Given the description of an element on the screen output the (x, y) to click on. 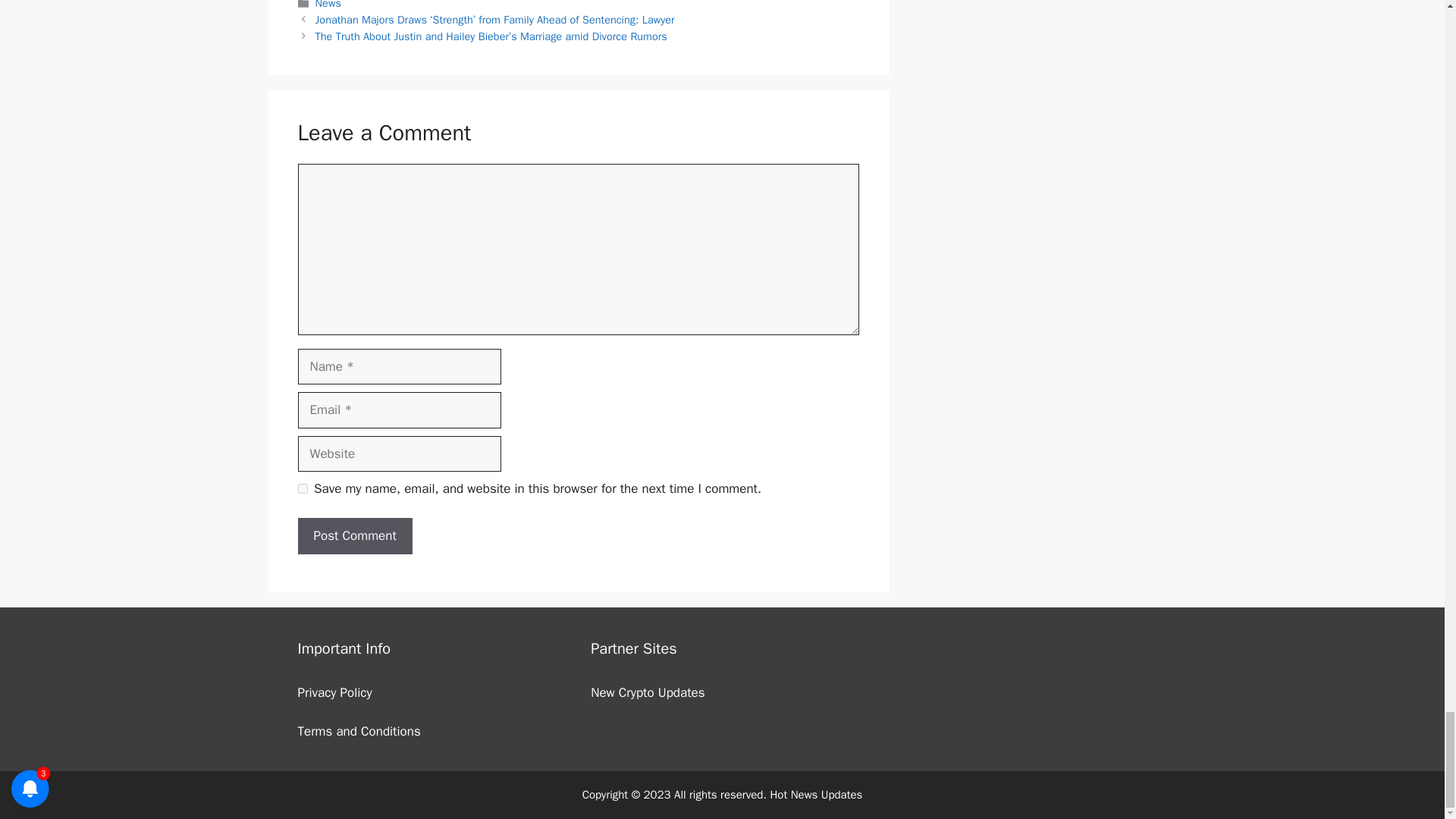
yes (302, 488)
Post Comment (354, 535)
